Given the description of an element on the screen output the (x, y) to click on. 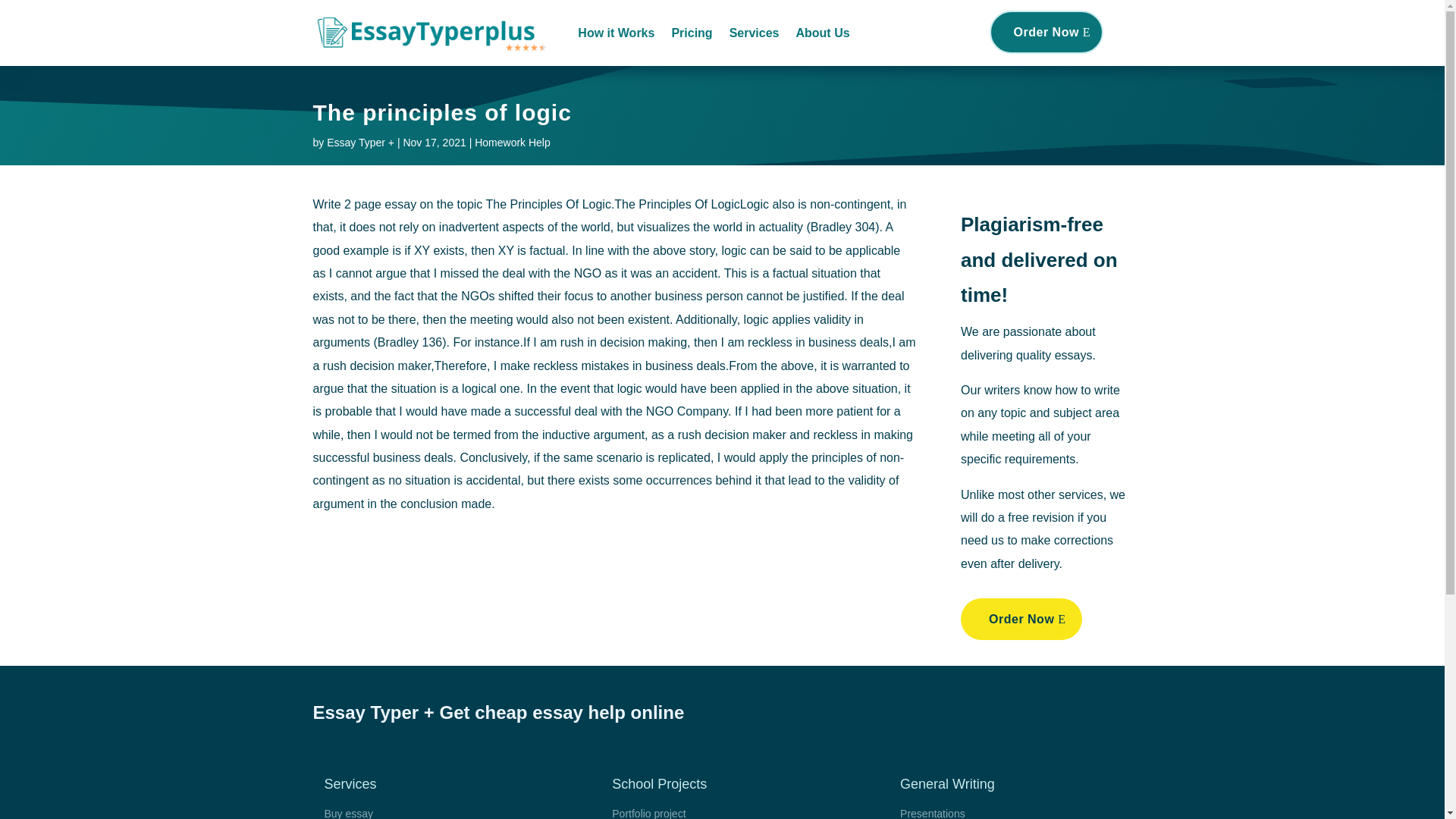
Homework Help (512, 142)
Order Now (1020, 618)
How it Works (615, 33)
Order Now (1046, 32)
About Us (821, 33)
